Given the description of an element on the screen output the (x, y) to click on. 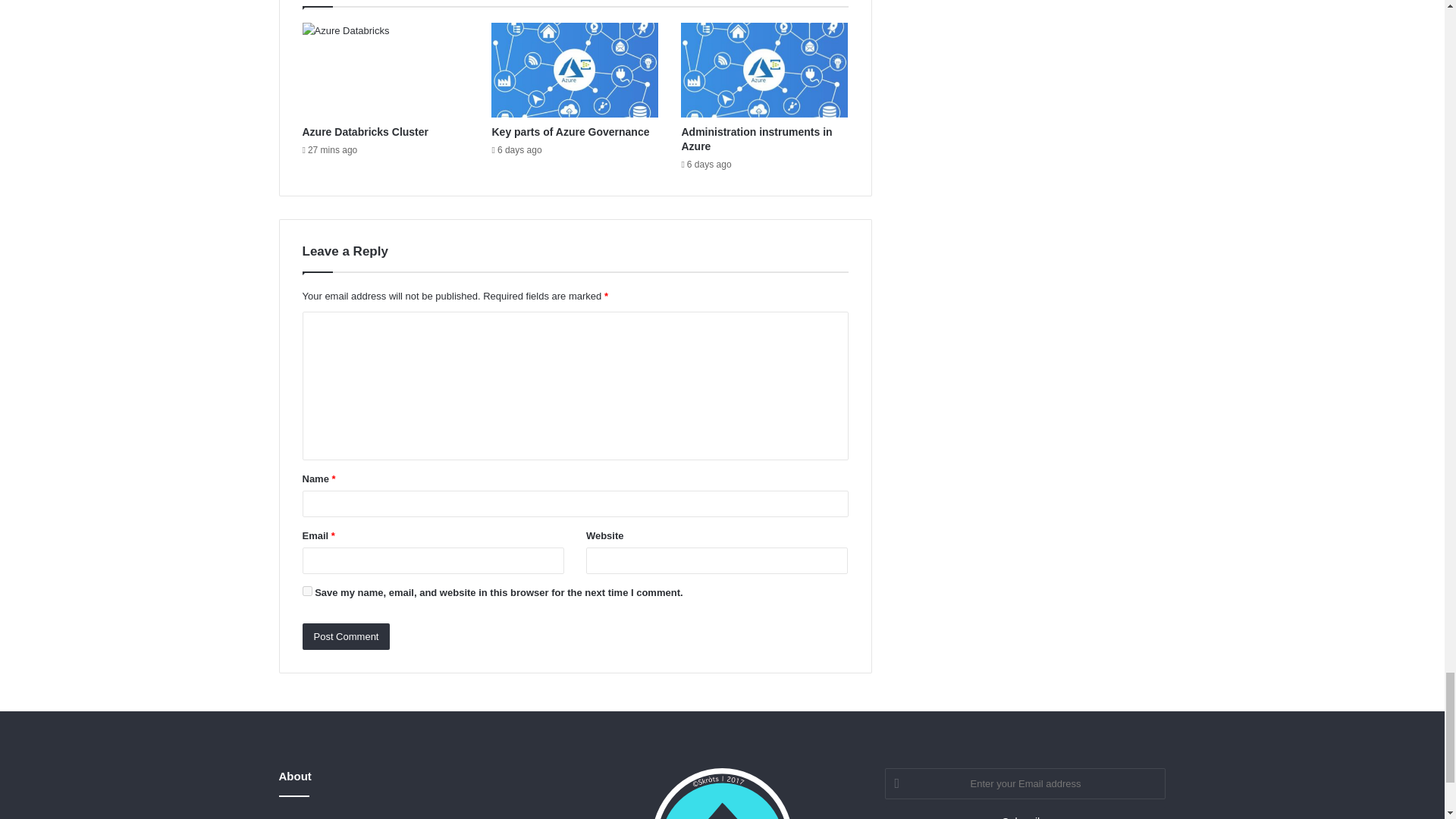
yes (306, 591)
Subscribe (1025, 812)
Post Comment (345, 636)
